Given the description of an element on the screen output the (x, y) to click on. 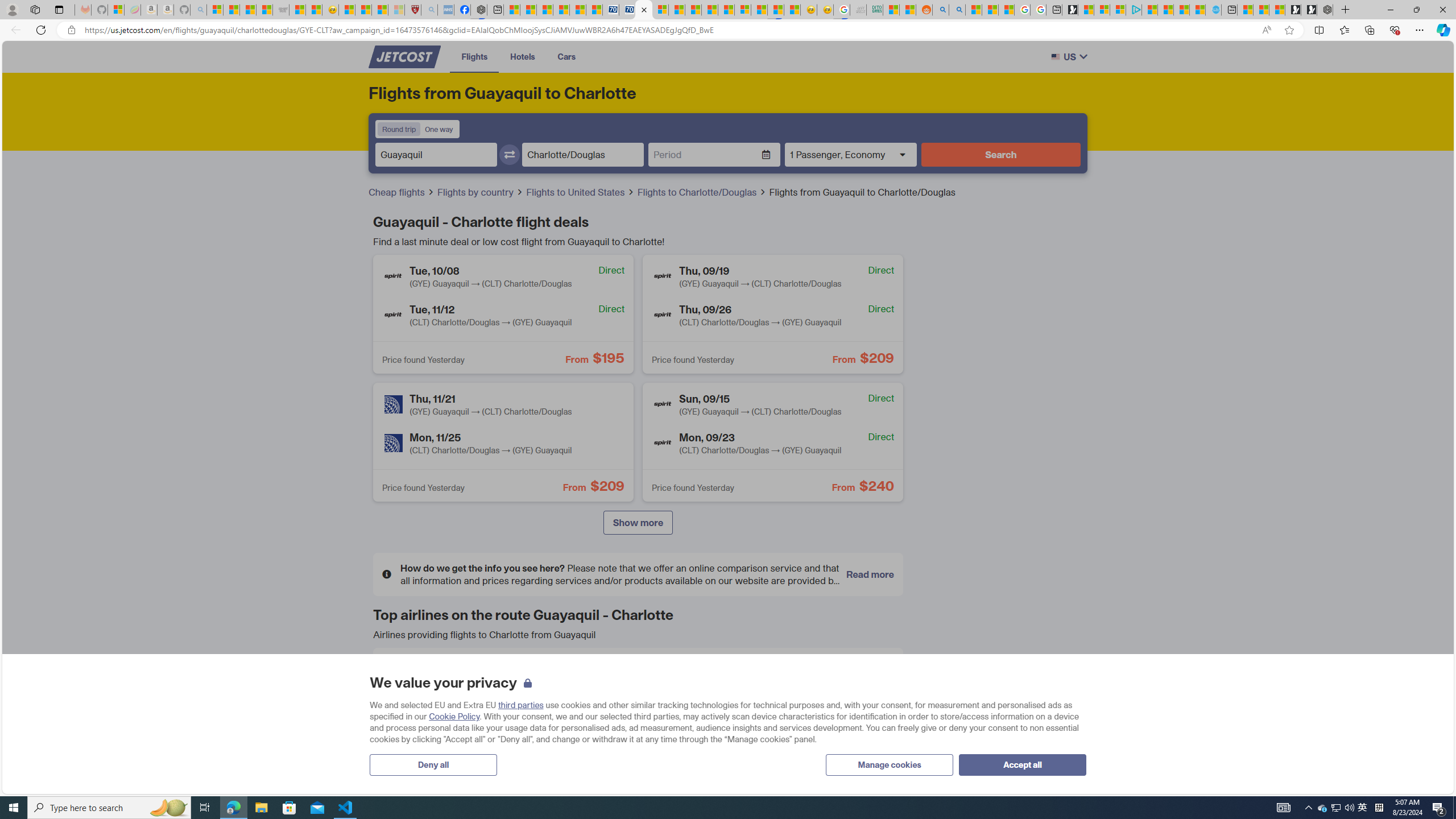
Flights to United States (576, 191)
United (400, 756)
Flights from Guayaquil to Charlotte/Douglas (861, 191)
Period (705, 154)
